Given the description of an element on the screen output the (x, y) to click on. 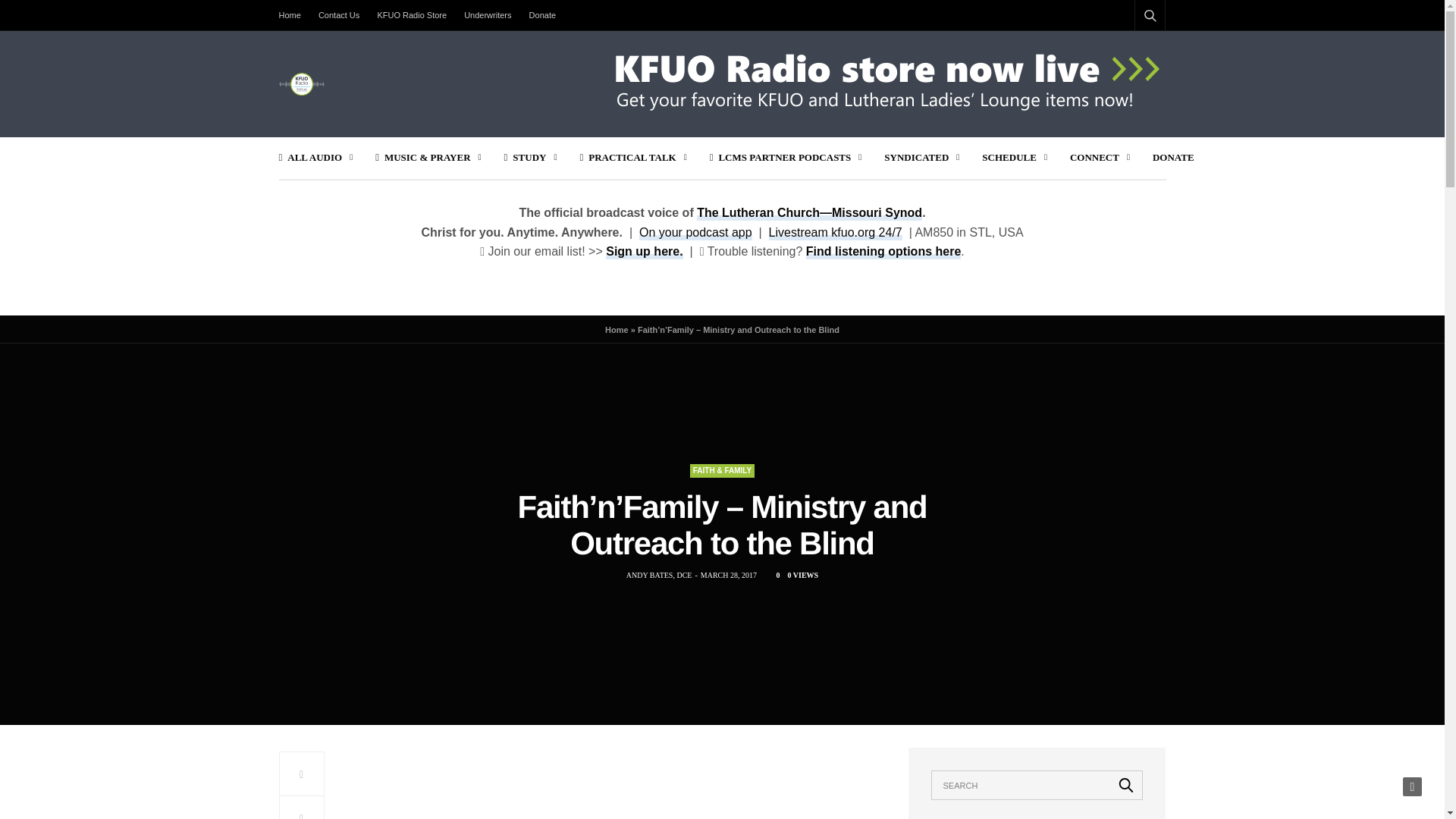
Search (1125, 784)
Search (1129, 51)
Donate (542, 15)
Contact Us (338, 15)
Underwriters (487, 15)
Home (293, 15)
KFUO Radio Store (411, 15)
ALL AUDIO (316, 157)
Posts by Andy Bates, DCE (659, 575)
